Given the description of an element on the screen output the (x, y) to click on. 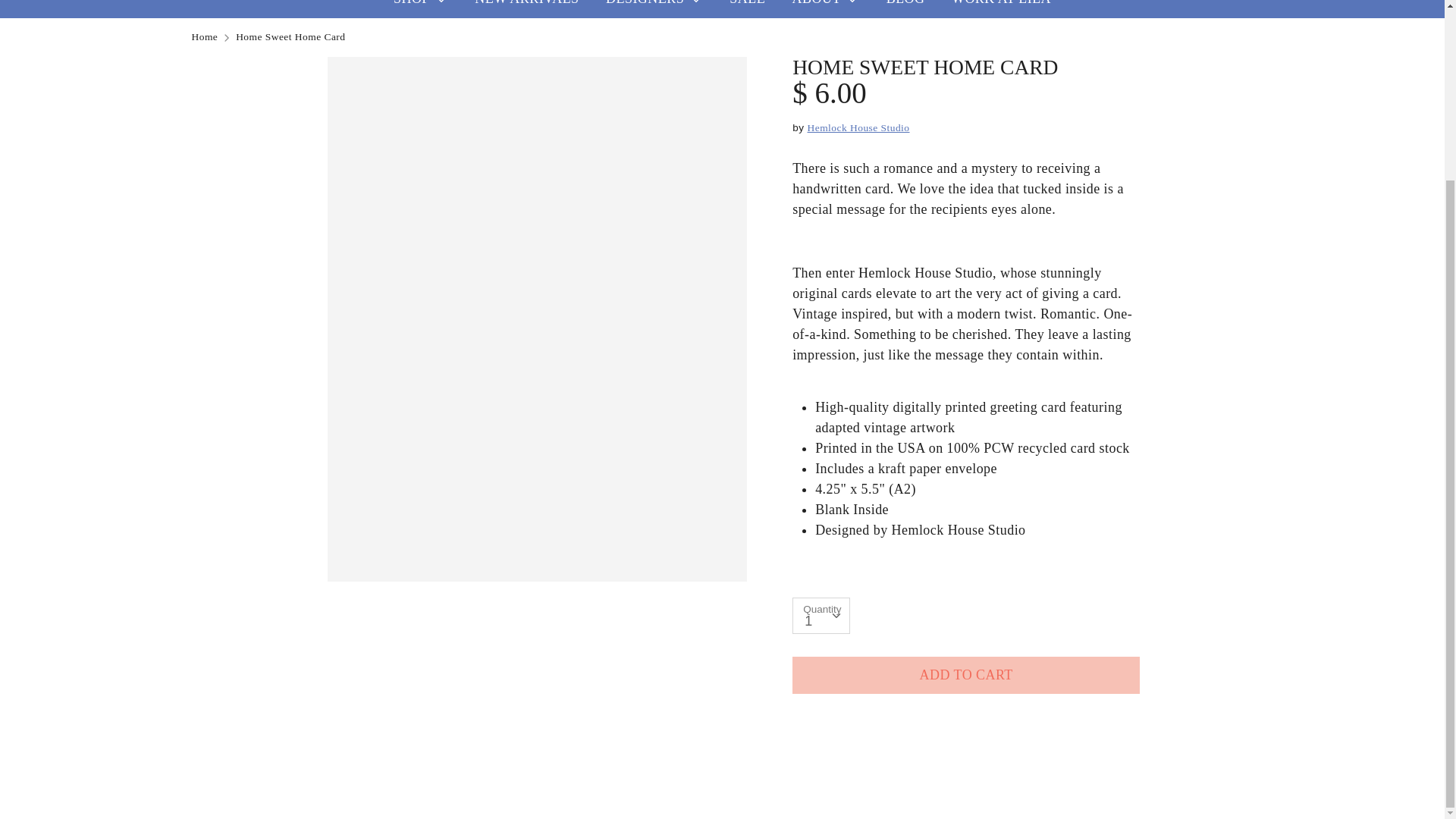
Mastercard (1098, 547)
Shop Pay (1168, 547)
Venmo (1202, 547)
Meta Pay (1063, 547)
Discover (1030, 547)
Diners Club (995, 547)
American Express (961, 547)
Visa (1236, 547)
PayPal (1133, 547)
